Given the description of an element on the screen output the (x, y) to click on. 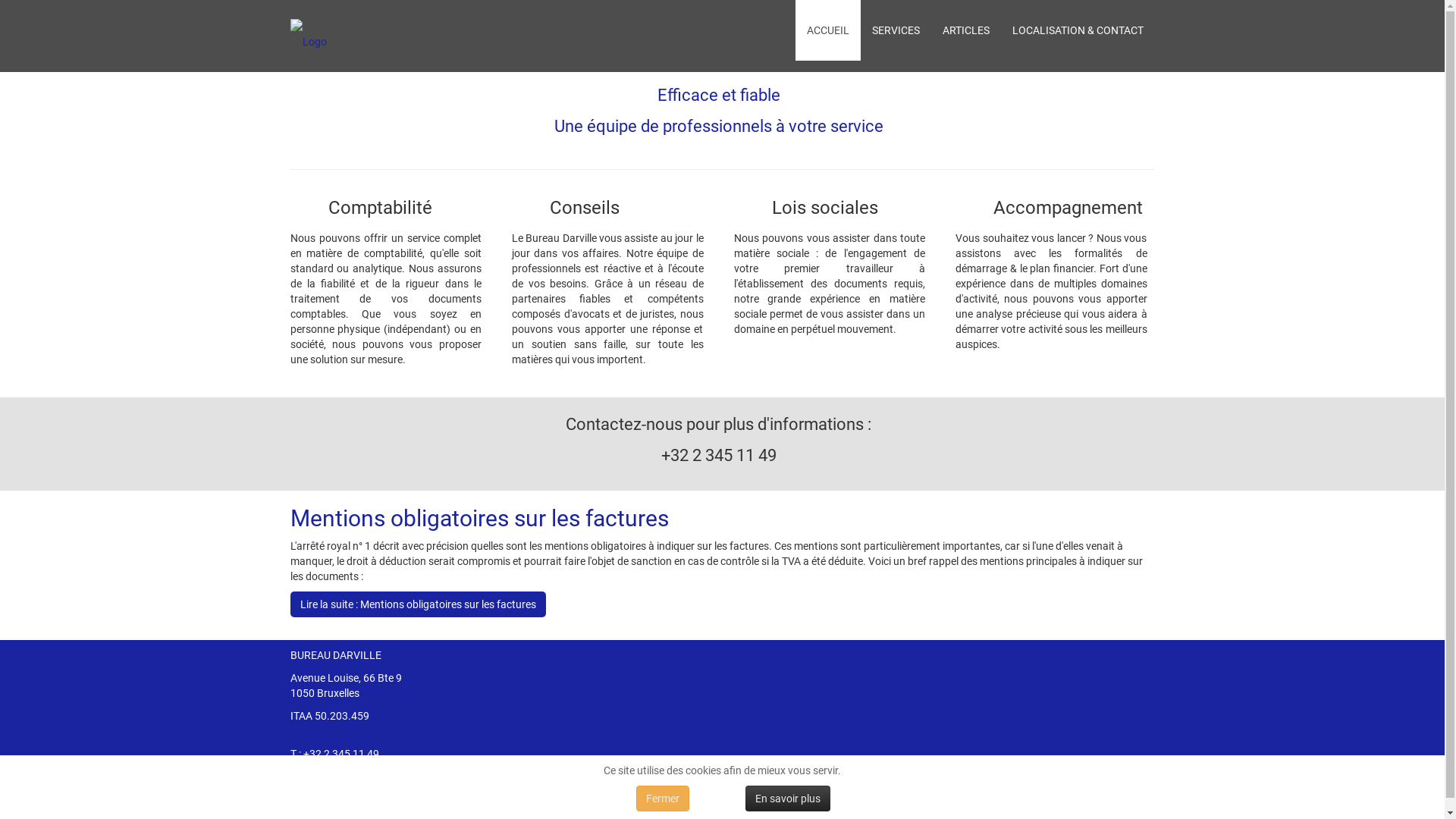
Fermer Element type: text (662, 798)
Mentions obligatoires sur les factures Element type: text (478, 518)
Nous contacter Element type: text (325, 791)
ARTICLES Element type: text (966, 30)
En savoir plus Element type: text (786, 798)
LOCALISATION & CONTACT Element type: text (1077, 30)
ACCUEIL Element type: text (826, 30)
Lire la suite : Mentions obligatoires sur les factures Element type: text (417, 604)
SERVICES Element type: text (894, 30)
